Given the description of an element on the screen output the (x, y) to click on. 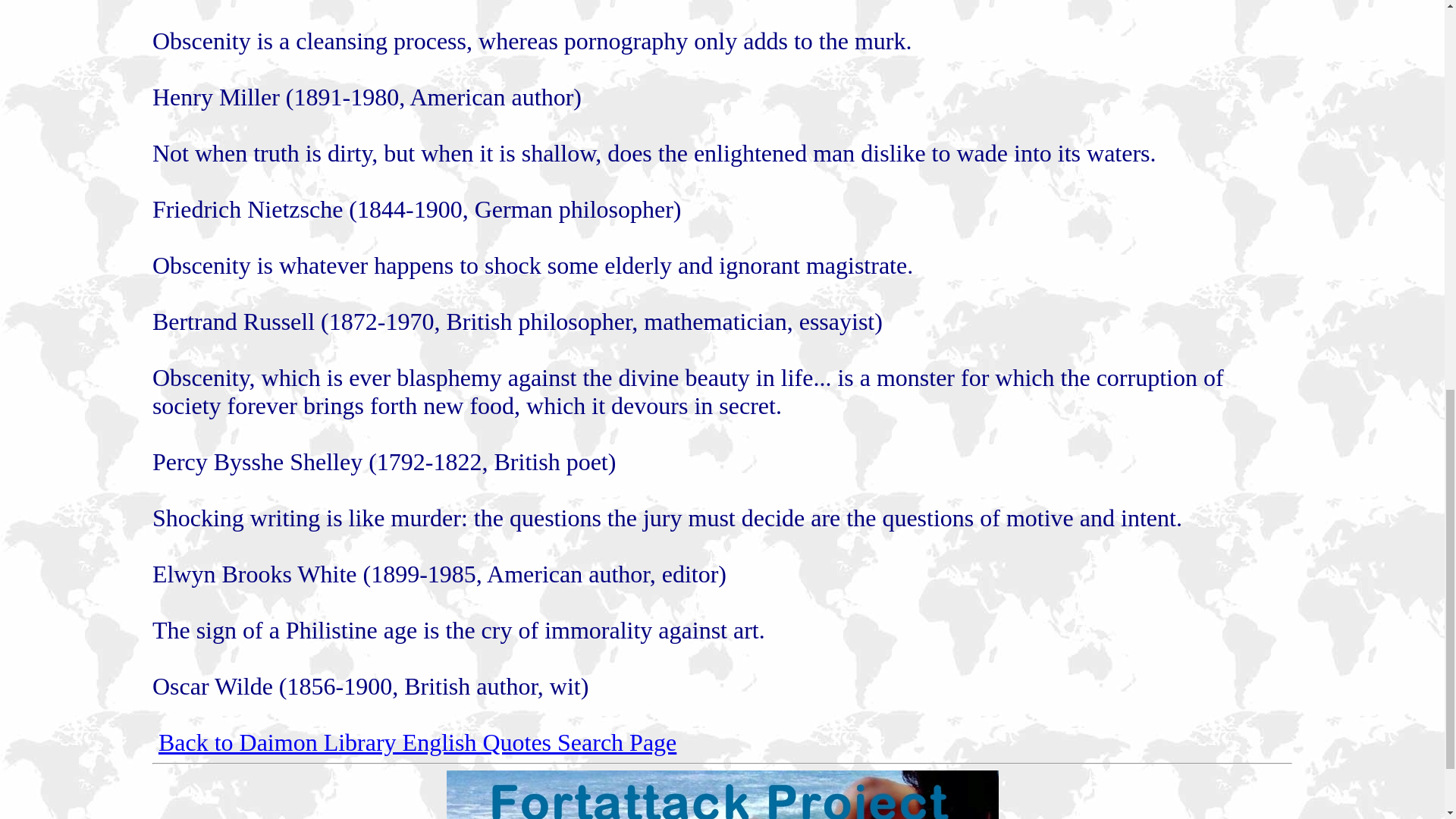
Back to Daimon Library English Quotes Search Page (417, 741)
